Given the description of an element on the screen output the (x, y) to click on. 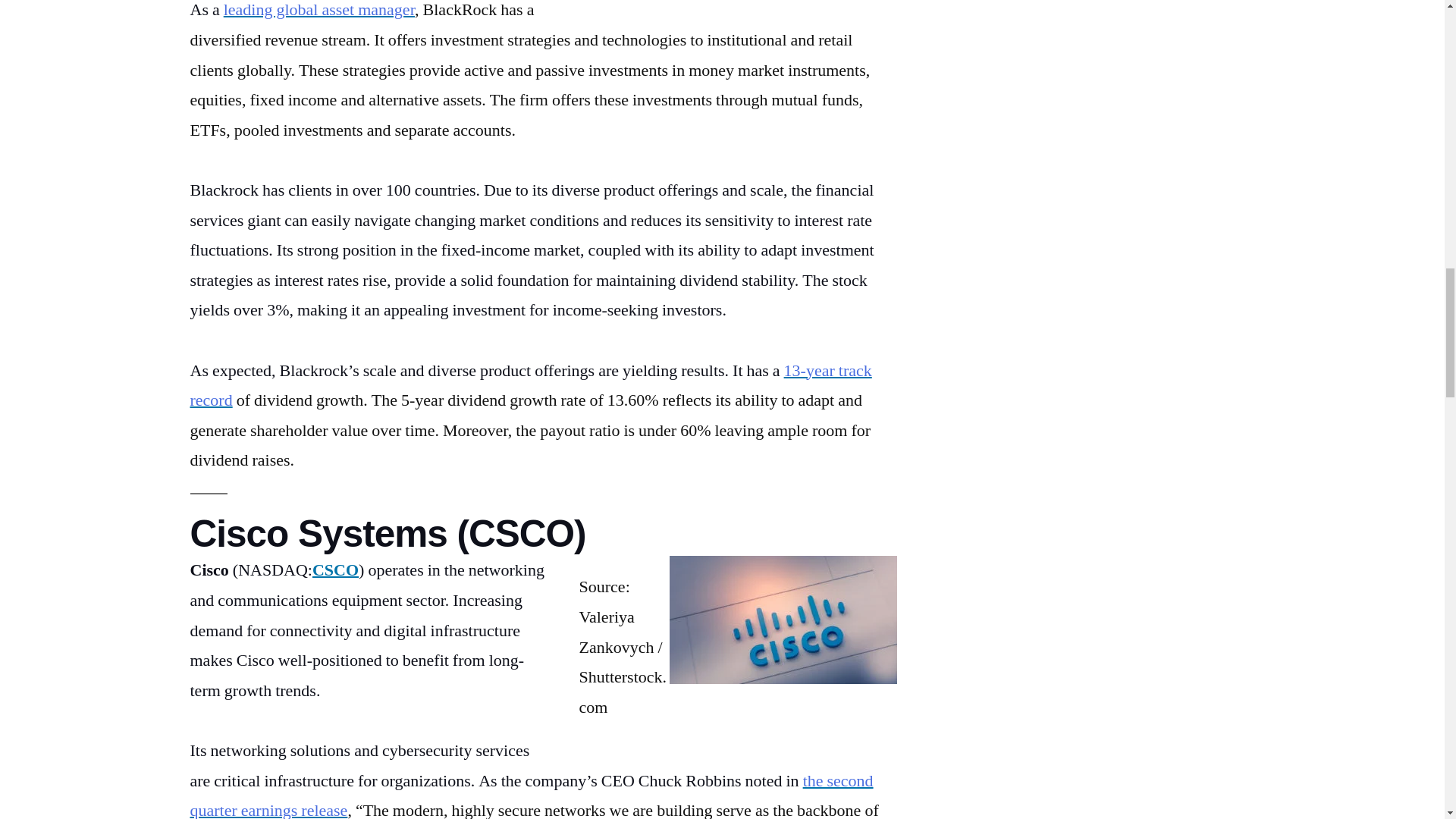
CSCO (335, 569)
leading global asset manager (319, 10)
13-year track record (529, 385)
the second quarter earnings release (530, 794)
